Given the description of an element on the screen output the (x, y) to click on. 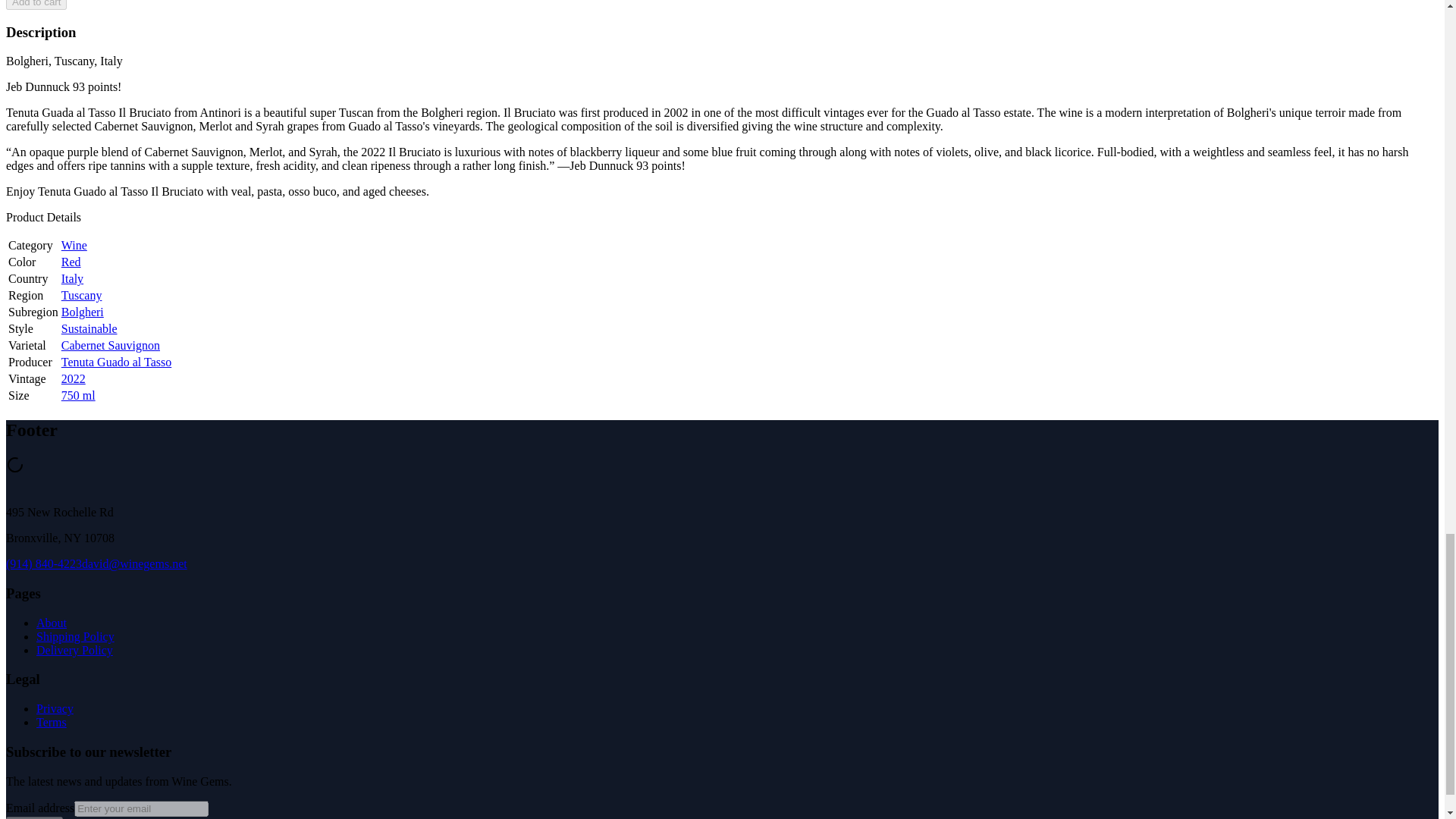
Add to cart (35, 4)
Shipping Policy (75, 635)
Sustainable (89, 328)
Red (71, 261)
Wine (74, 245)
Tuscany (81, 295)
Italy (71, 278)
Cabernet Sauvignon (110, 345)
About (51, 622)
2022 (73, 378)
